Given the description of an element on the screen output the (x, y) to click on. 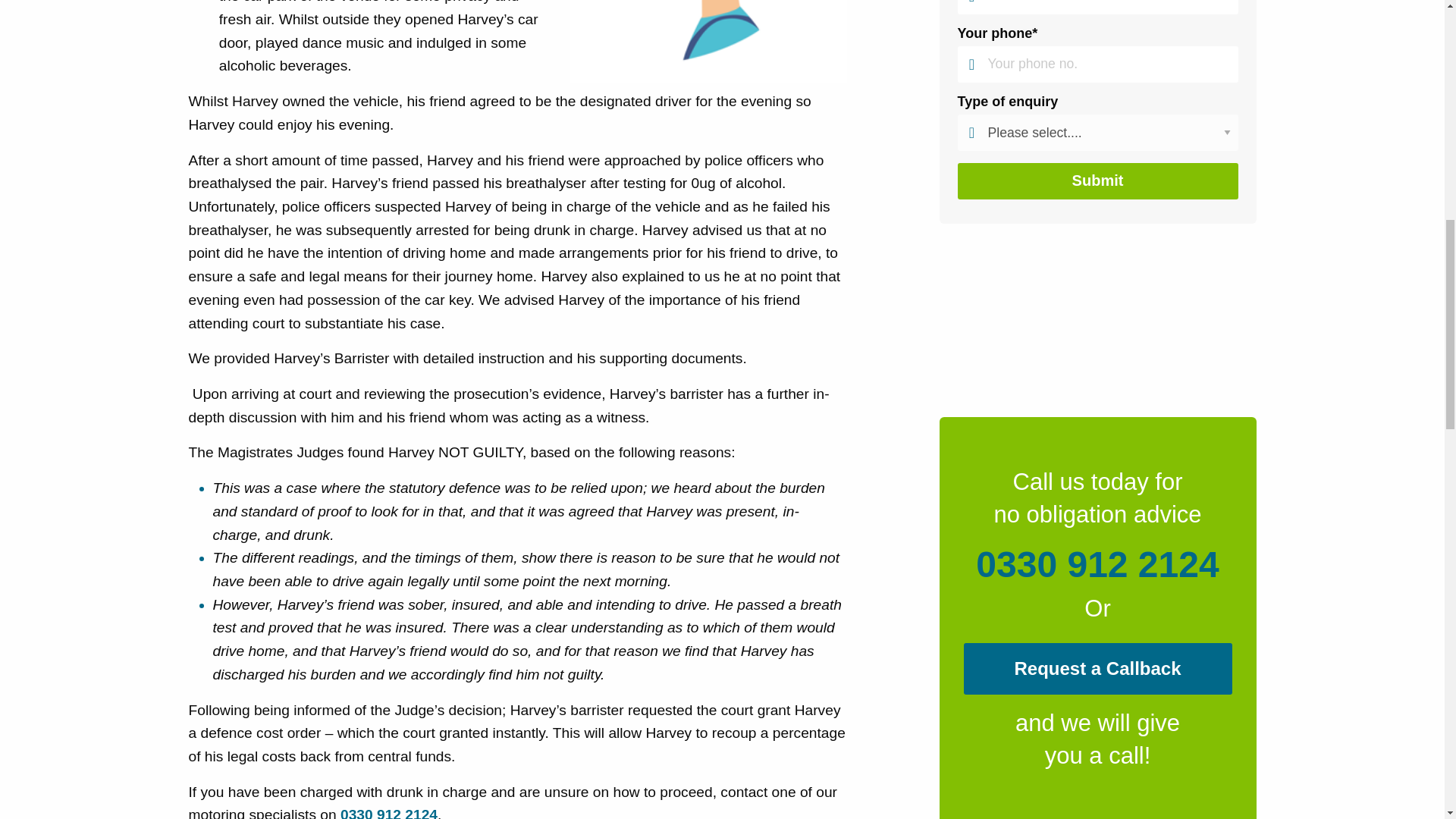
Submit (1096, 180)
